Given the description of an element on the screen output the (x, y) to click on. 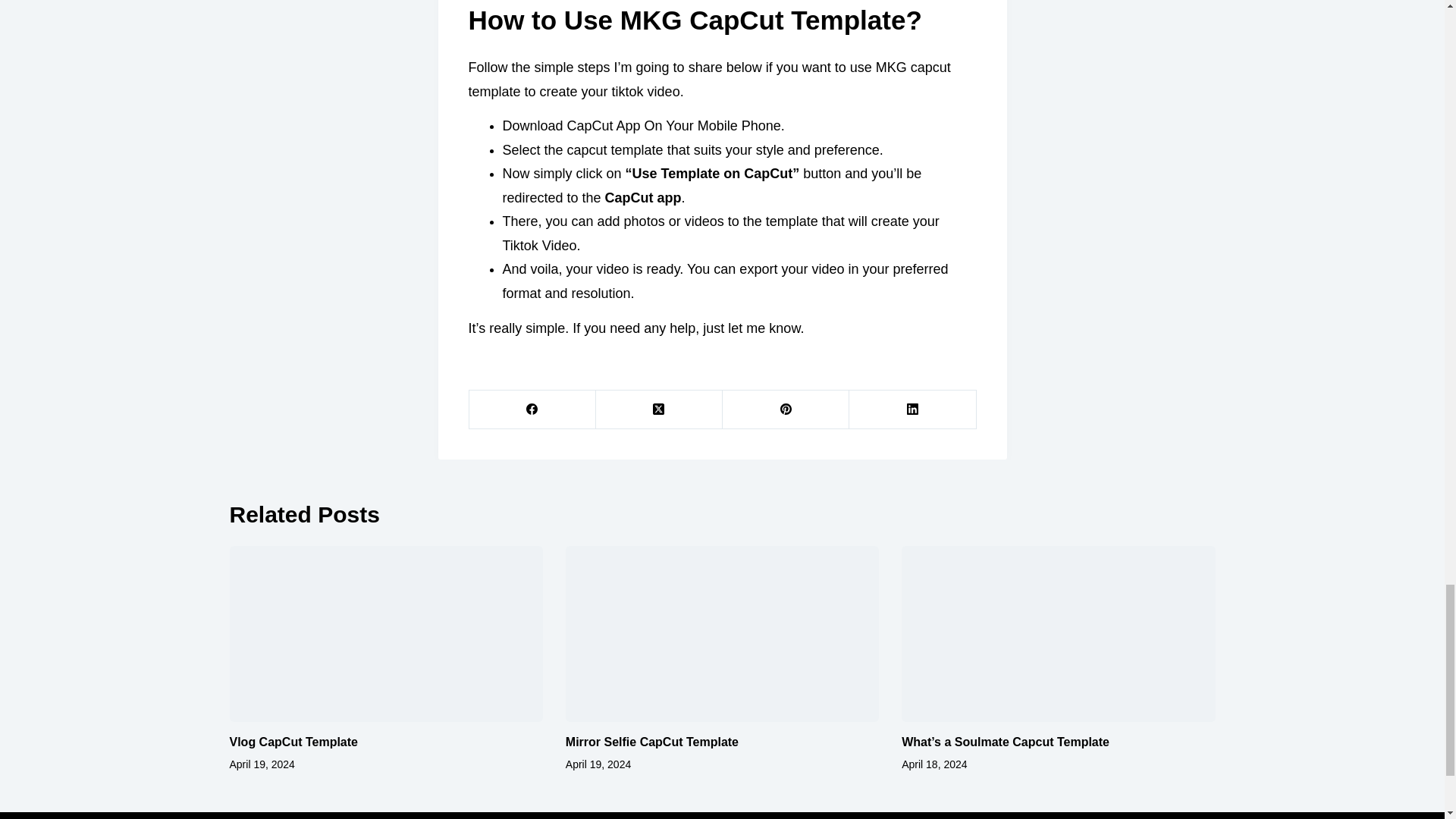
Mirror Selfie CapCut Template (652, 741)
Vlog CapCut Template (293, 741)
